Given the description of an element on the screen output the (x, y) to click on. 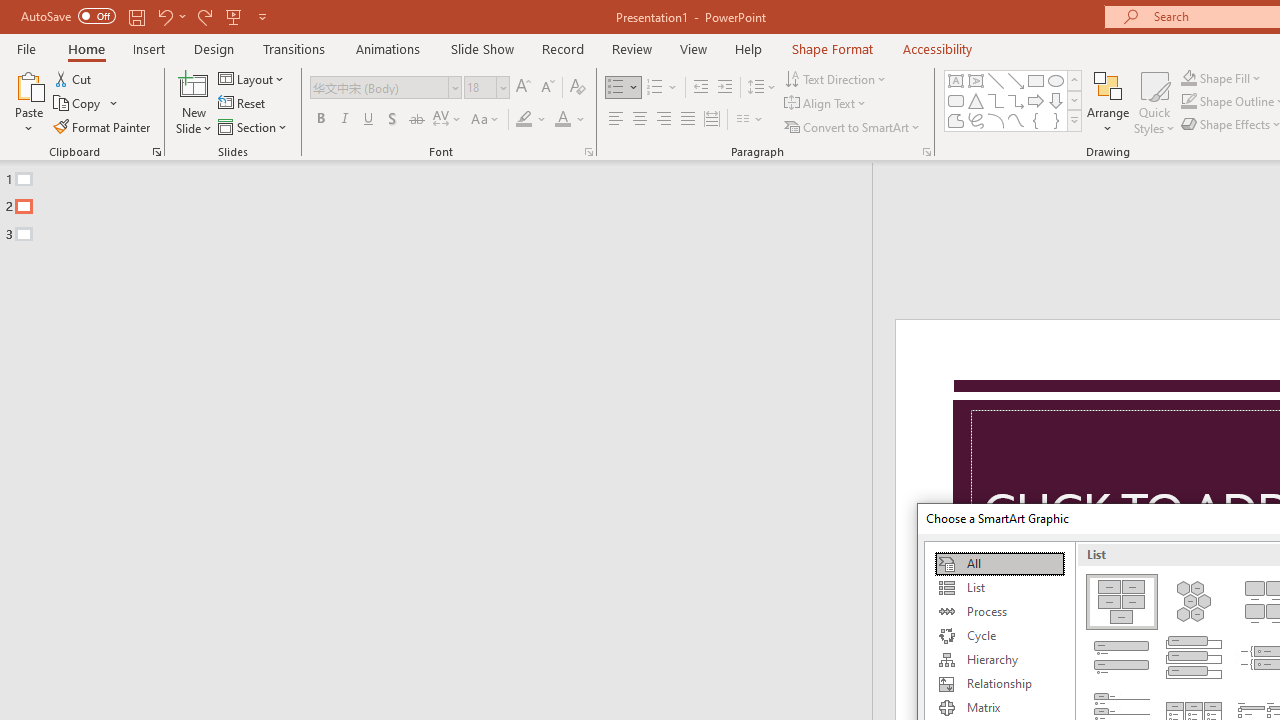
Hierarchy (999, 659)
